Given the description of an element on the screen output the (x, y) to click on. 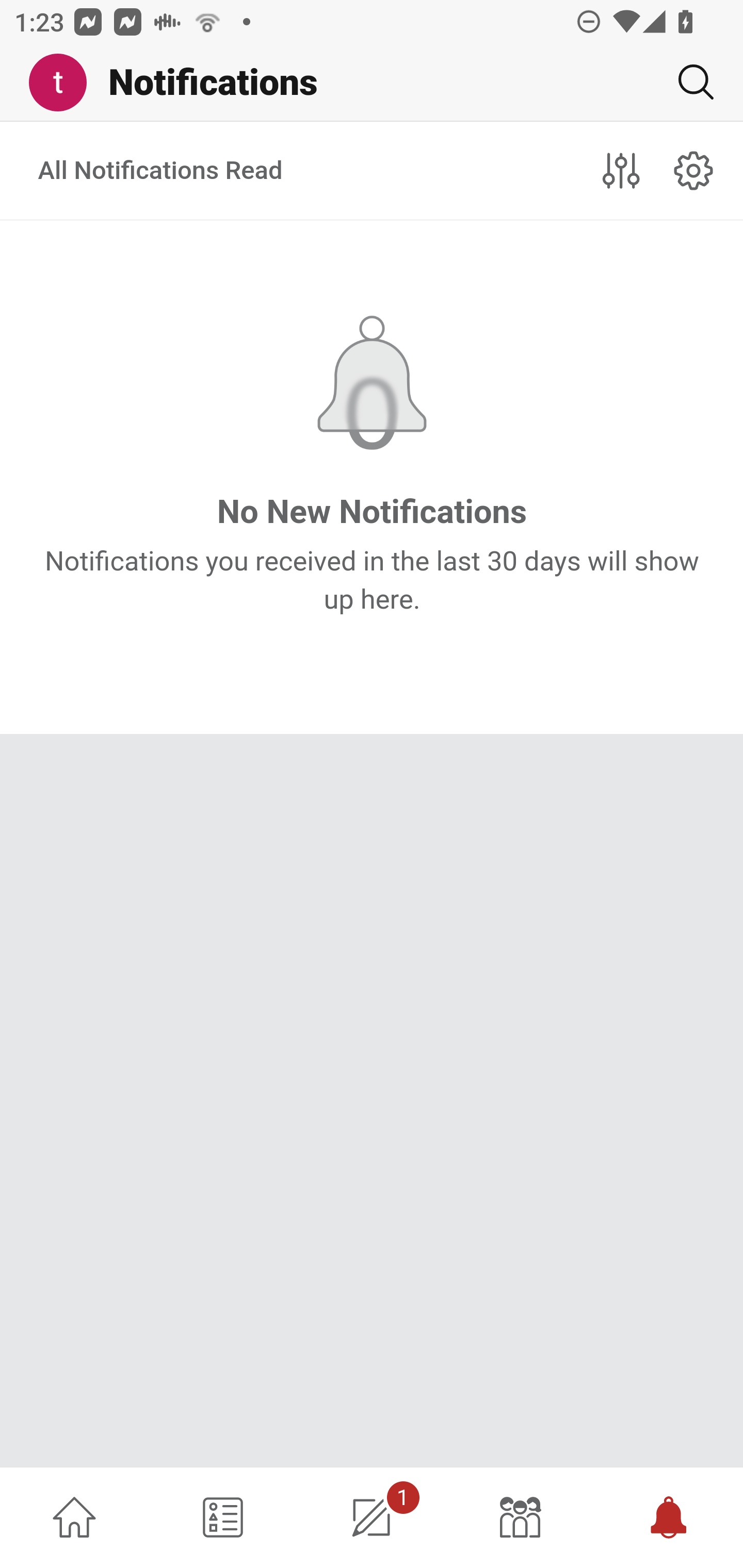
Me (64, 83)
Search (688, 82)
All Notifications Read (160, 171)
notifications# (693, 170)
1 (371, 1517)
